Given the description of an element on the screen output the (x, y) to click on. 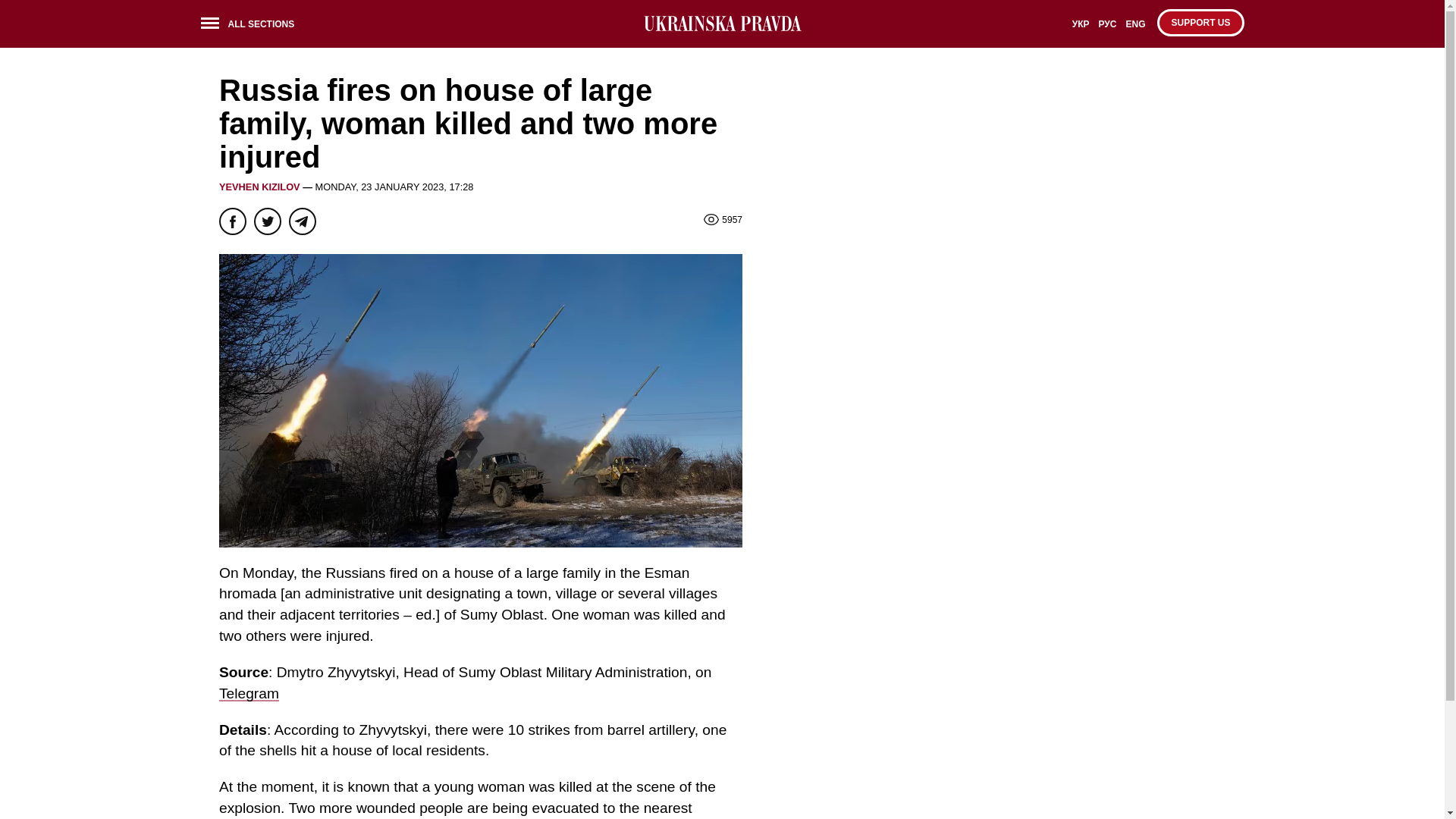
ENG (1135, 28)
ALL SECTIONS (251, 26)
Ukrainska pravda (722, 24)
Ukrainska pravda (722, 23)
YEVHEN KIZILOV (259, 186)
SUPPORT US (1200, 22)
Telegram (249, 693)
